Given the description of an element on the screen output the (x, y) to click on. 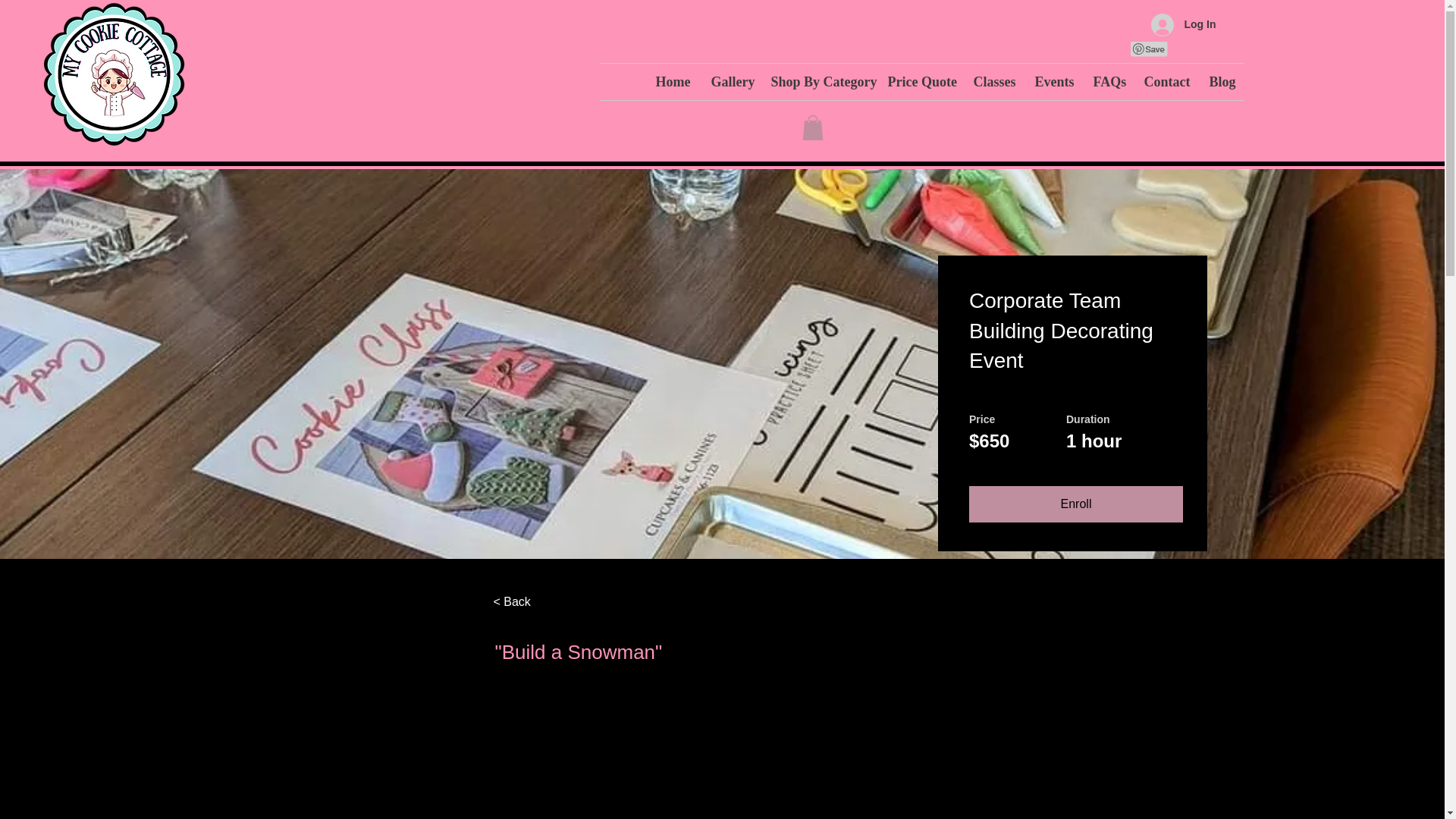
Price Quote (919, 81)
Log In (1183, 24)
Pin to Pinterest (1148, 48)
Classes (991, 81)
Contact (1165, 81)
Events (1052, 81)
Home (672, 81)
Blog (1221, 81)
FAQs (1106, 81)
Gallery (728, 81)
